Given the description of an element on the screen output the (x, y) to click on. 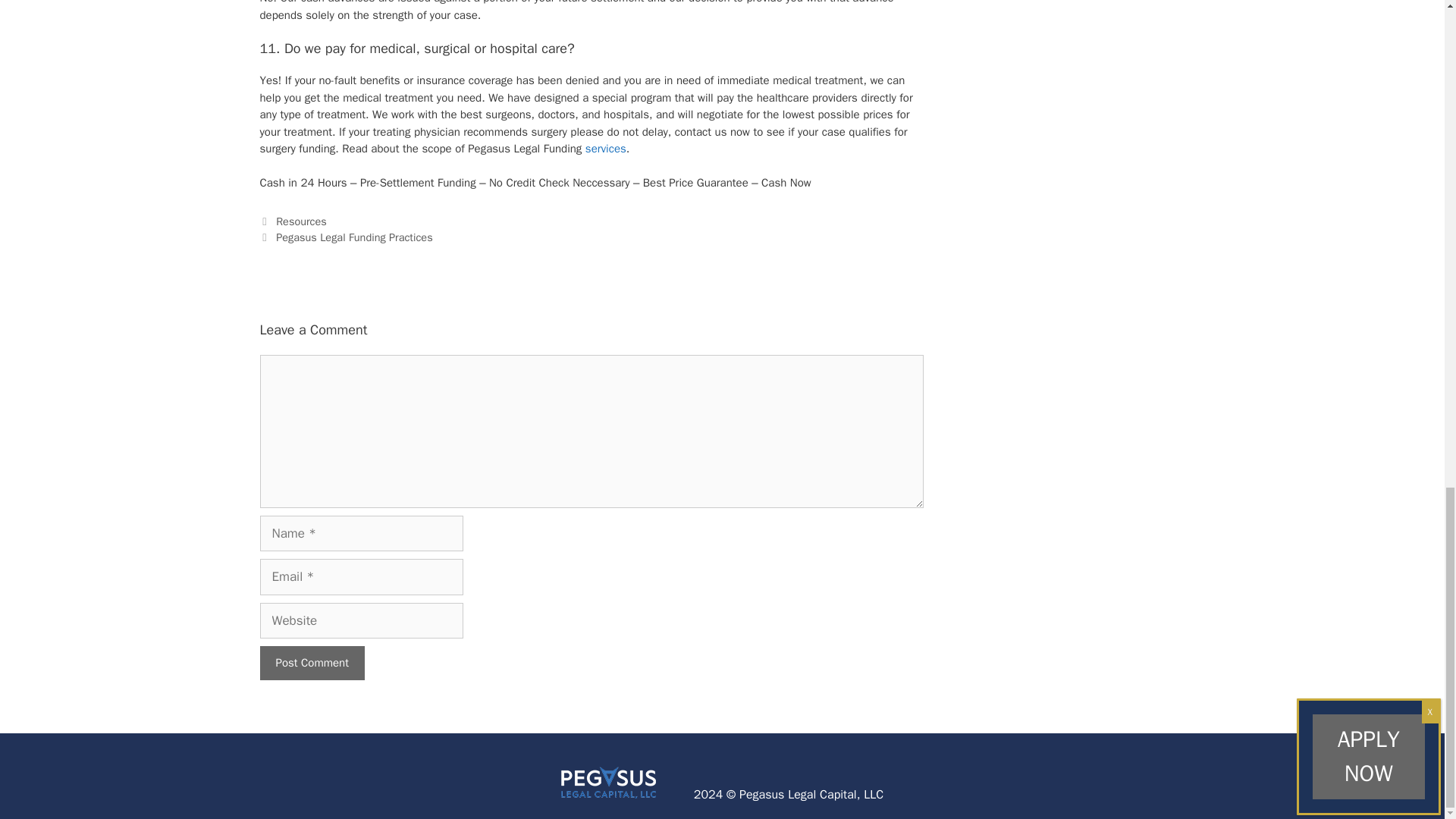
Post Comment (311, 663)
more legal funding services (605, 148)
Next (345, 237)
Previous (292, 221)
